Given the description of an element on the screen output the (x, y) to click on. 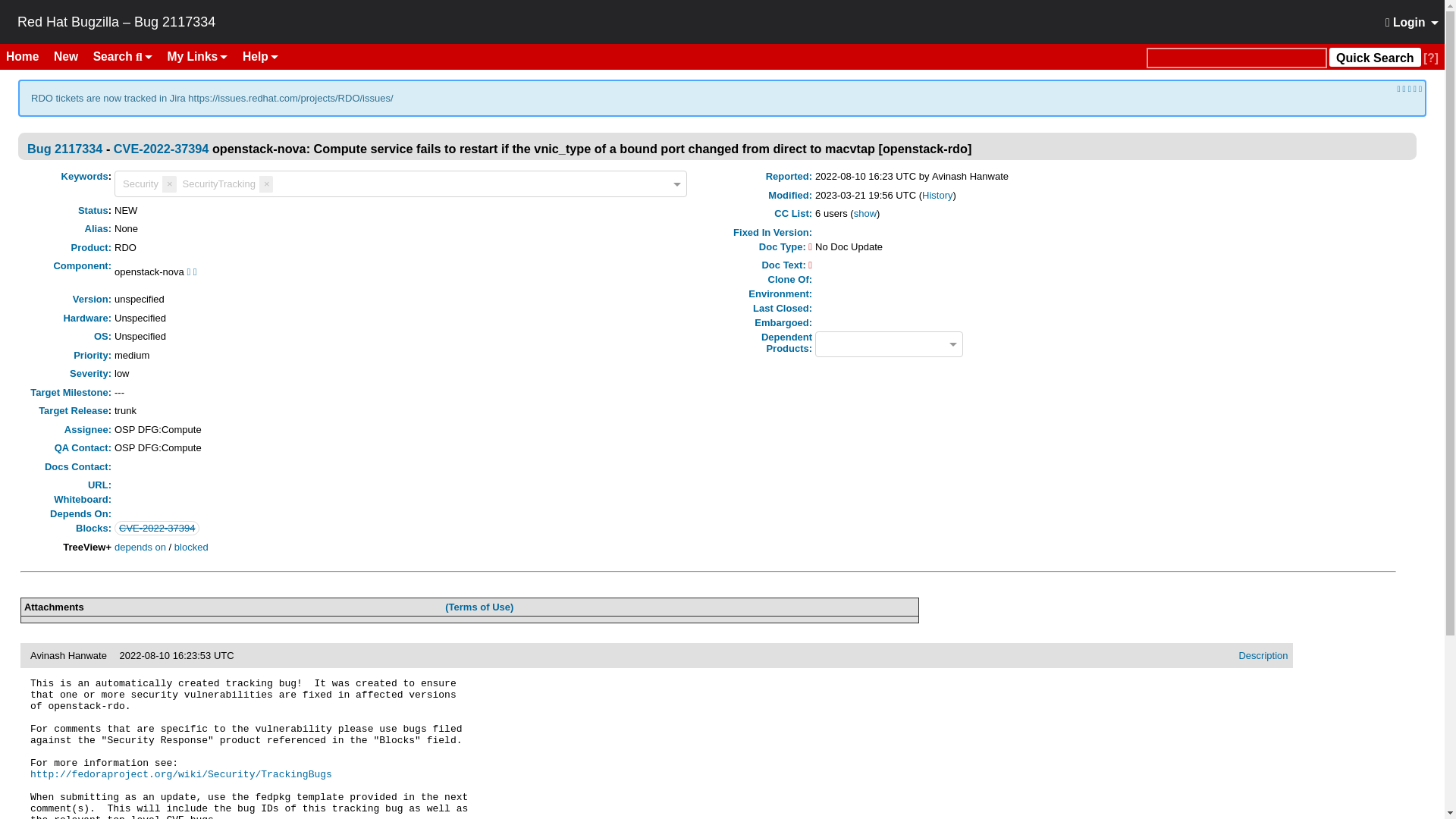
Help (259, 56)
Quick Search (1375, 56)
New (72, 56)
Search (122, 56)
Home (28, 56)
Quick Search (1236, 57)
My Links (197, 56)
